Given the description of an element on the screen output the (x, y) to click on. 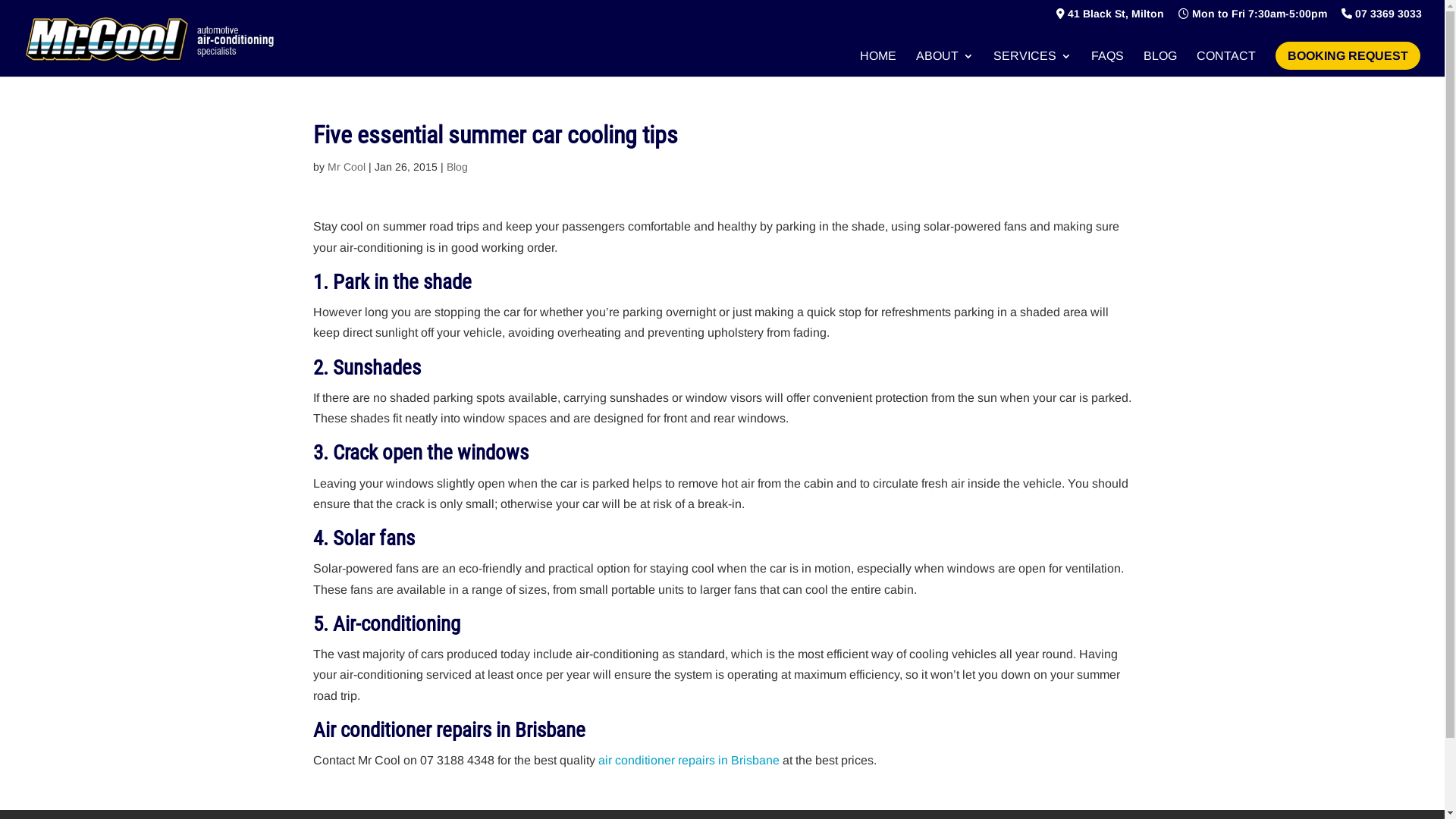
BLOG Element type: text (1159, 63)
air conditioner repairs in Brisbane Element type: text (687, 759)
BOOKING REQUEST Element type: text (1347, 55)
07 3369 3033 Element type: text (1381, 16)
Blog Element type: text (456, 166)
HOME Element type: text (877, 63)
Mon to Fri 7:30am-5:00pm Element type: text (1252, 16)
ABOUT Element type: text (944, 63)
CONTACT Element type: text (1225, 63)
SERVICES Element type: text (1032, 63)
Mr Cool Element type: text (346, 166)
FAQS Element type: text (1107, 63)
41 Black St, Milton Element type: text (1110, 16)
